Given the description of an element on the screen output the (x, y) to click on. 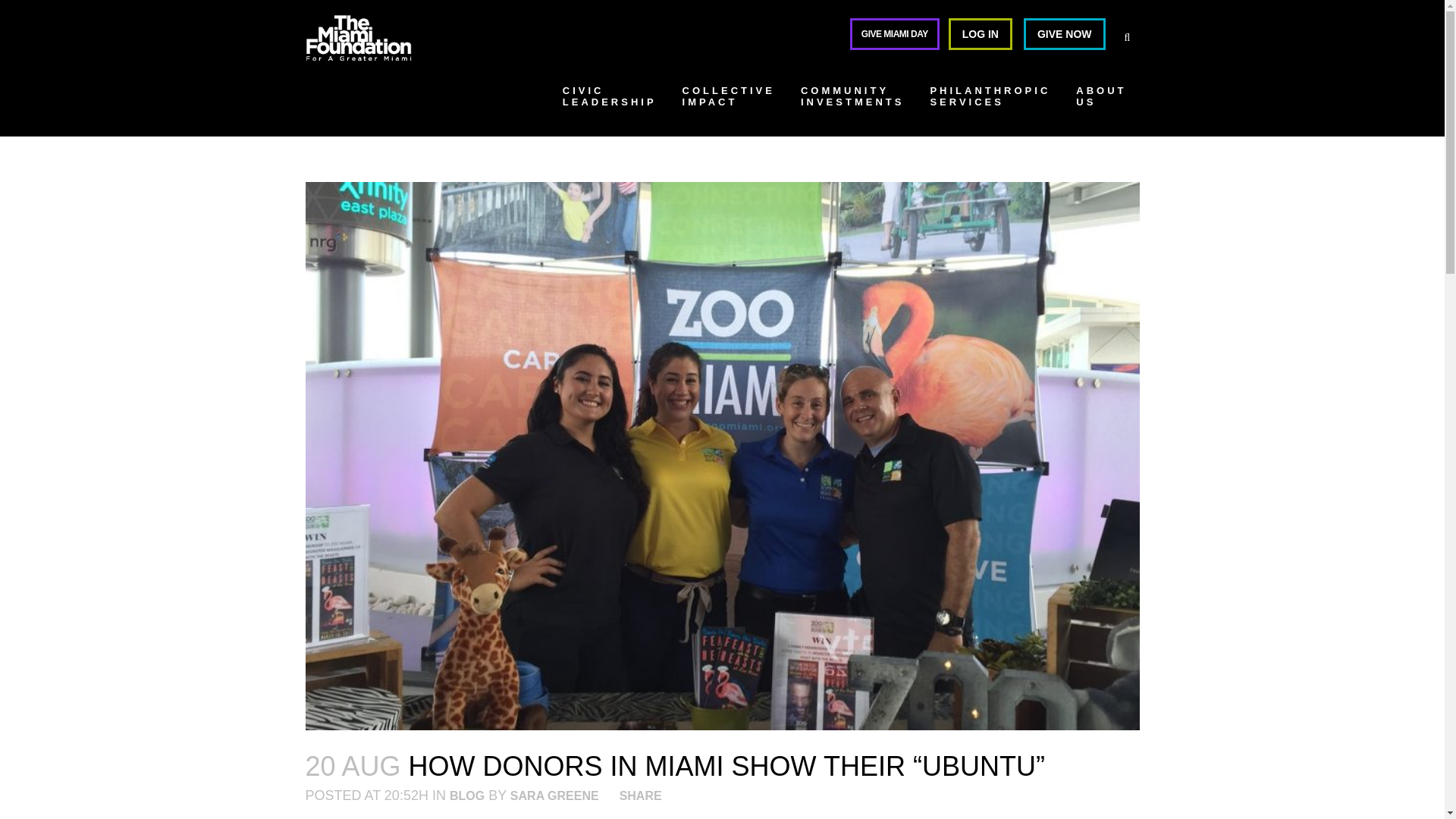
GIVE NOW (728, 101)
